Given the description of an element on the screen output the (x, y) to click on. 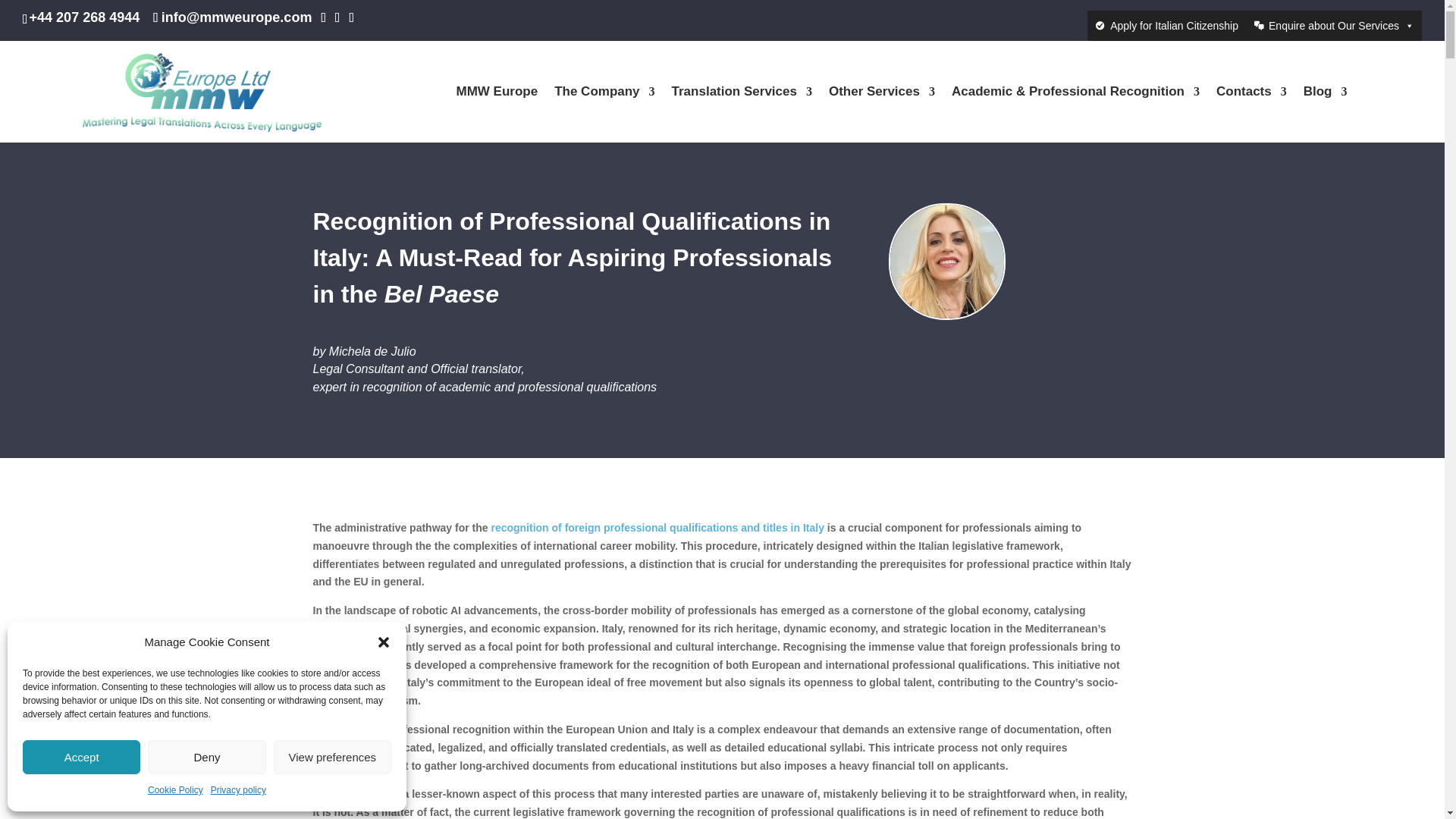
Apply for Italian Citizenship (1166, 25)
View preferences (332, 756)
Accept (81, 756)
Deny (206, 756)
Translation Services (741, 114)
The Company (603, 114)
Cookie Policy (175, 791)
Privacy policy (238, 791)
Enquire about Our Services (1334, 25)
michela-de-julio-blog-profile-picture (946, 261)
MMW Europe (497, 114)
